Given the description of an element on the screen output the (x, y) to click on. 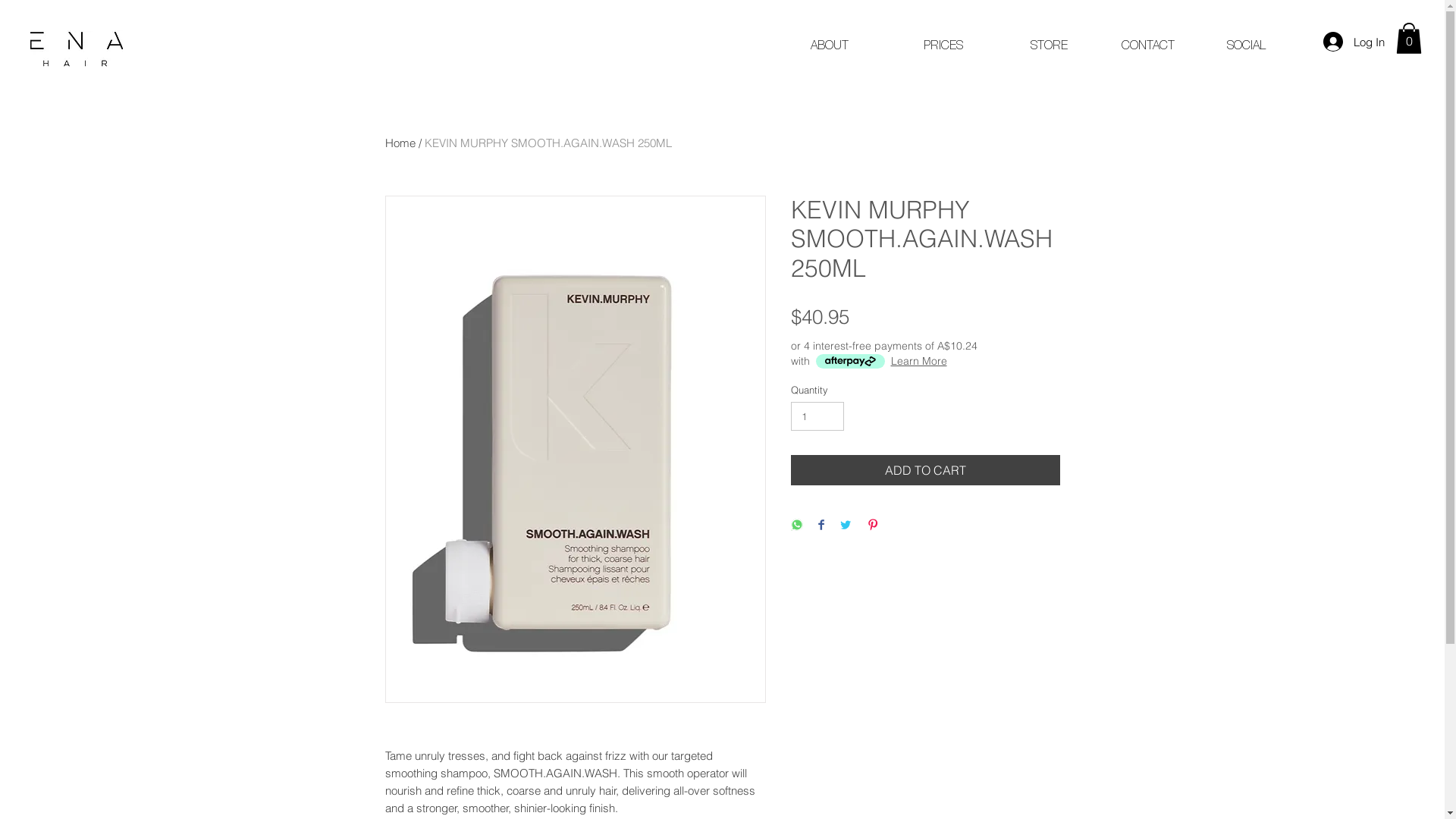
SOCIAL Element type: text (1245, 45)
Log In Element type: text (1353, 41)
0 Element type: text (1408, 37)
ABOUT Element type: text (828, 45)
CONTACT Element type: text (1147, 45)
ADD TO CART Element type: text (924, 470)
Learn More Element type: text (918, 360)
PRICES Element type: text (942, 45)
STORE Element type: text (1048, 45)
Home Element type: text (400, 142)
KEVIN MURPHY SMOOTH.AGAIN.WASH 250ML Element type: text (547, 142)
